Given the description of an element on the screen output the (x, y) to click on. 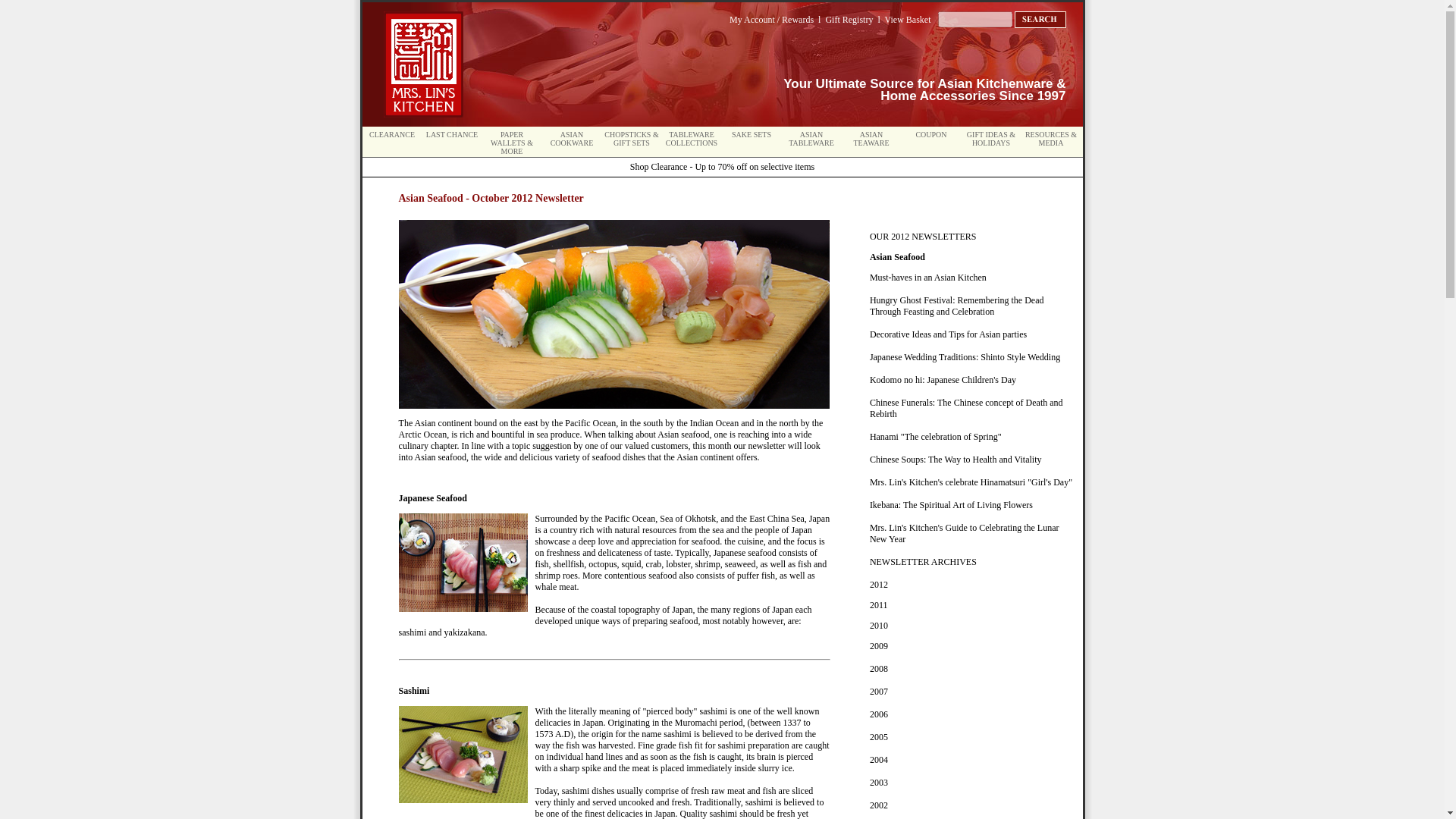
Asian Tableware (811, 138)
Last Chance (451, 134)
Tableware Collections (691, 138)
Chopsticks and Chopstick Gift Sets (631, 138)
LAST CHANCE (451, 134)
Clearance (391, 134)
Asian Cookware (572, 138)
CLEARANCE (391, 134)
Gift Registry (848, 19)
Sake Sets (751, 134)
